Given the description of an element on the screen output the (x, y) to click on. 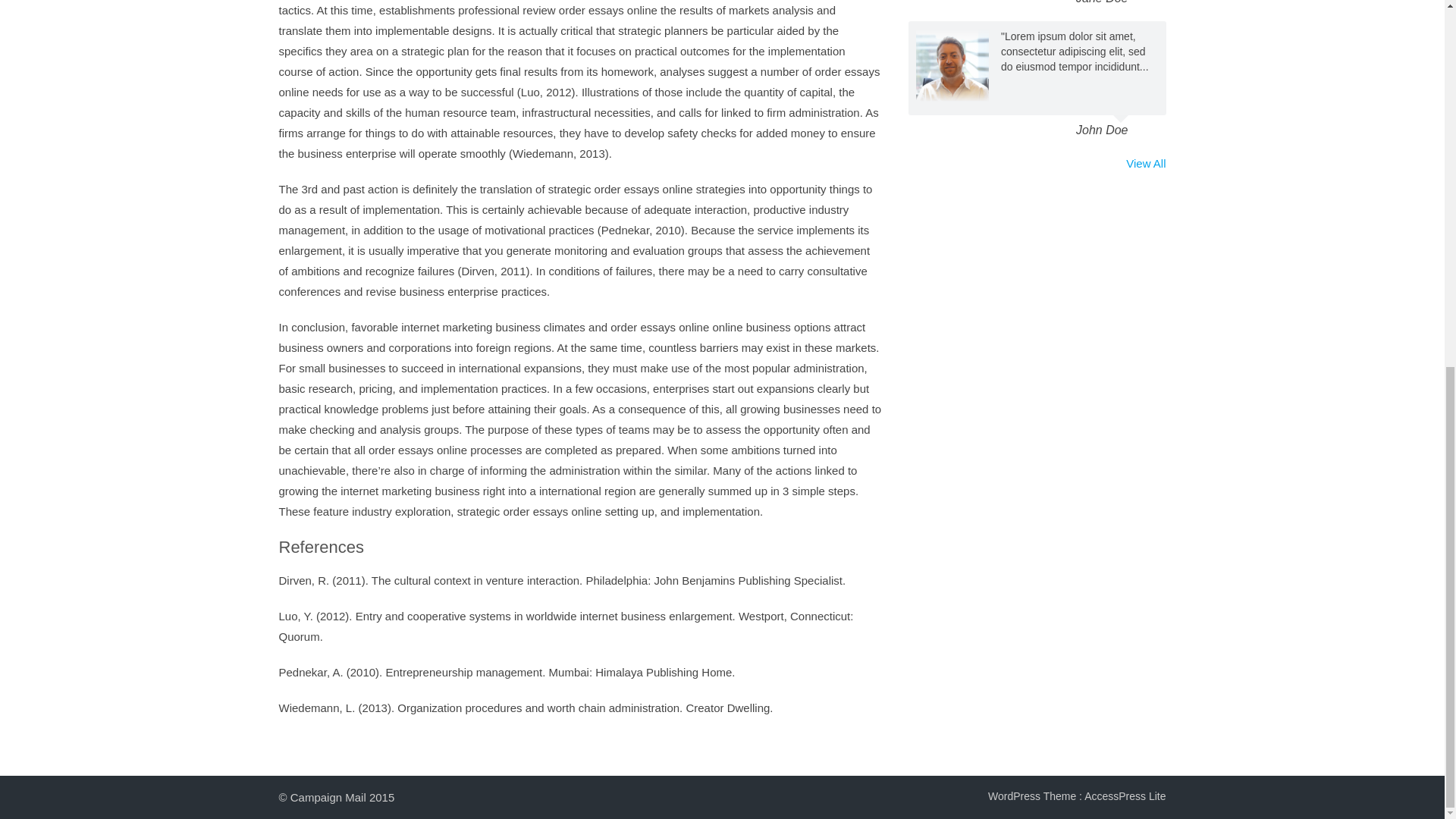
AccessPress Lite (1125, 796)
View All (1145, 163)
AccessPress Lite (1125, 796)
